Given the description of an element on the screen output the (x, y) to click on. 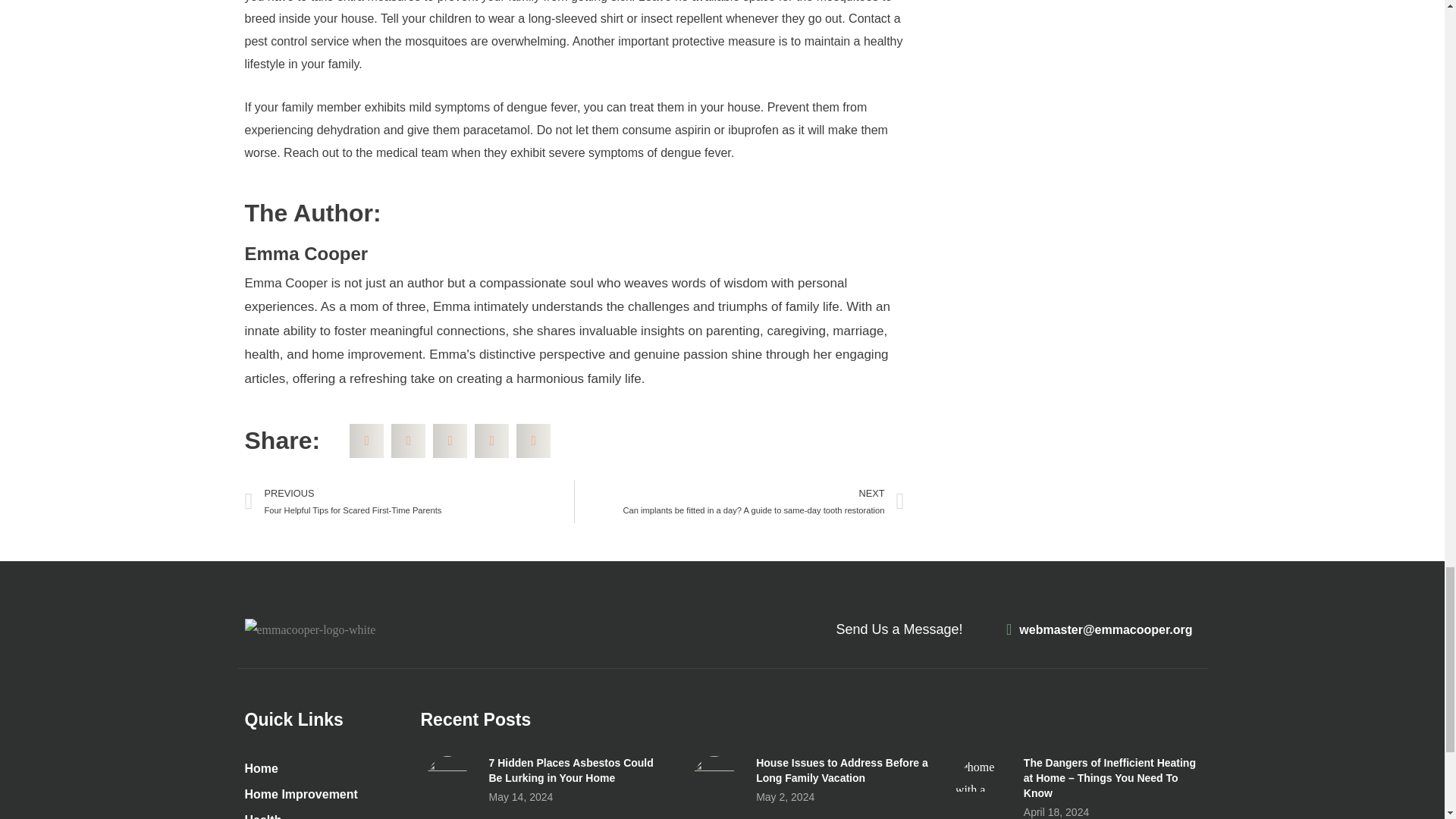
emmacooper-logo-white (309, 630)
